Given the description of an element on the screen output the (x, y) to click on. 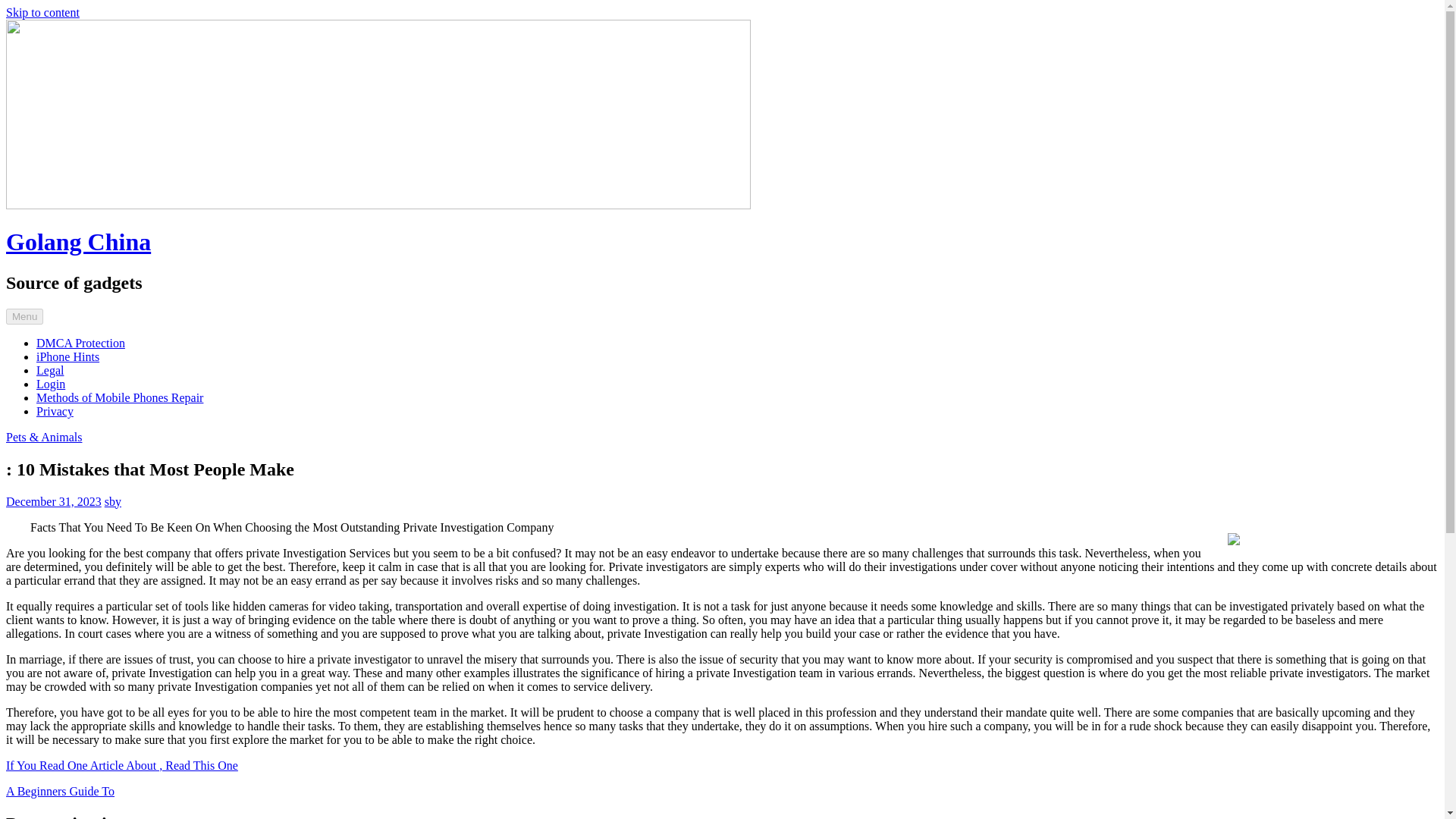
December 31, 2023 (53, 501)
DMCA Protection (80, 342)
Menu (24, 316)
Skip to content (42, 11)
Login (50, 383)
A Beginners Guide To (60, 790)
Methods of Mobile Phones Repair (119, 397)
iPhone Hints (67, 356)
Golang China (78, 241)
Privacy (55, 410)
If You Read One Article About , Read This One (121, 765)
Legal (50, 369)
sby (112, 501)
